Given the description of an element on the screen output the (x, y) to click on. 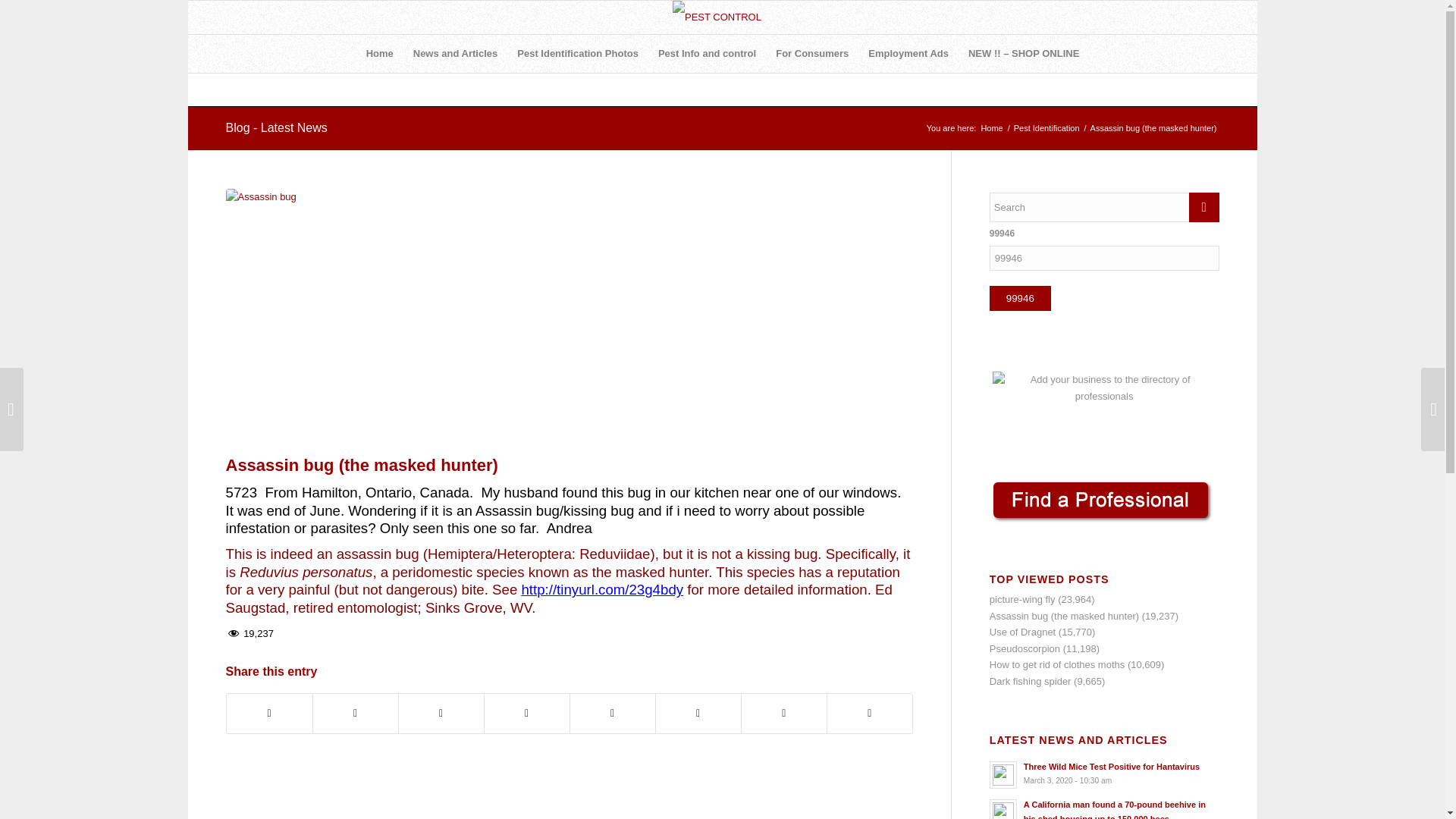
PEST CONTROL CANADA (991, 128)
99946 (1020, 298)
Home (379, 53)
News and Articles (454, 53)
Pest Info and control (706, 53)
Permanent Link: Blog - Latest News (276, 127)
99946 (1020, 298)
Pest Identification Photos (576, 53)
